Given the description of an element on the screen output the (x, y) to click on. 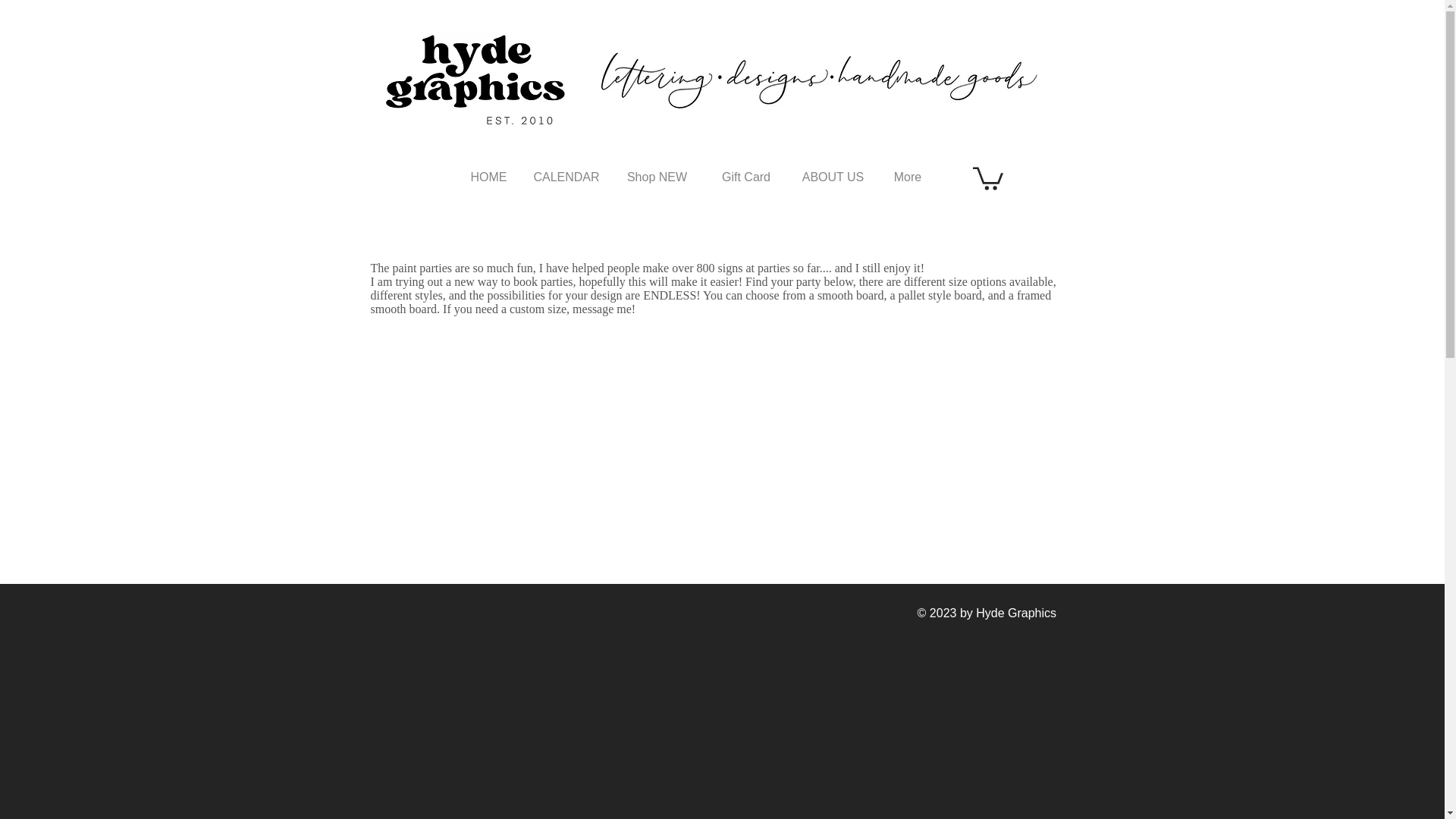
HOME (489, 177)
ABOUT US (833, 177)
Gift Card (745, 177)
CALENDAR (566, 177)
Shop NEW (656, 177)
